Given the description of an element on the screen output the (x, y) to click on. 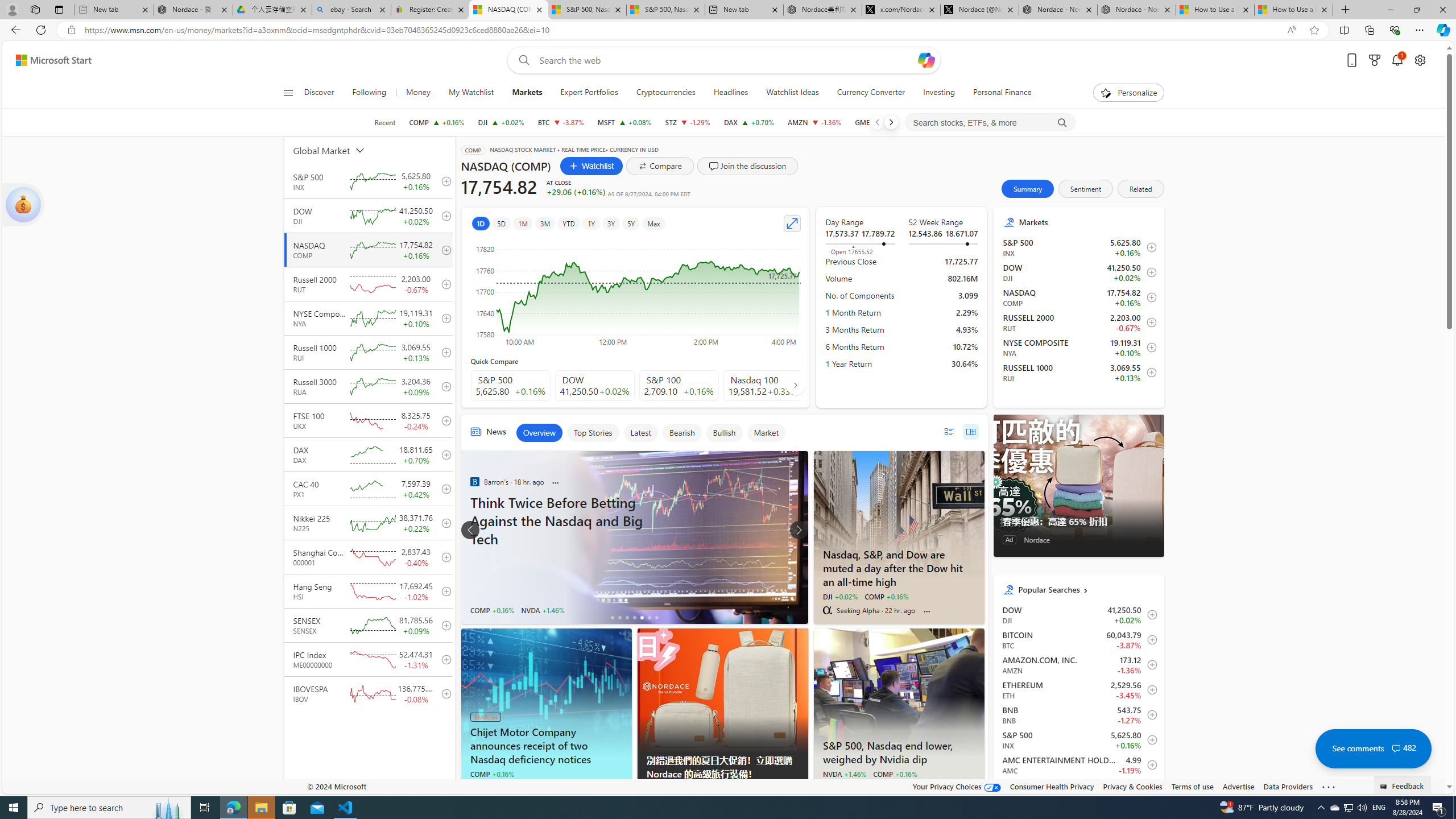
3M (545, 223)
ETH Ethereum decrease 2,529.56 -87.30 -3.45% itemundefined (1078, 689)
My Watchlist (470, 92)
YTD (568, 223)
grid layout (970, 431)
Class: cwt-icon-vector (1395, 748)
NVDA +1.46% (844, 773)
Nordace (@NordaceOfficial) / X (979, 9)
Headlines (730, 92)
